Given the description of an element on the screen output the (x, y) to click on. 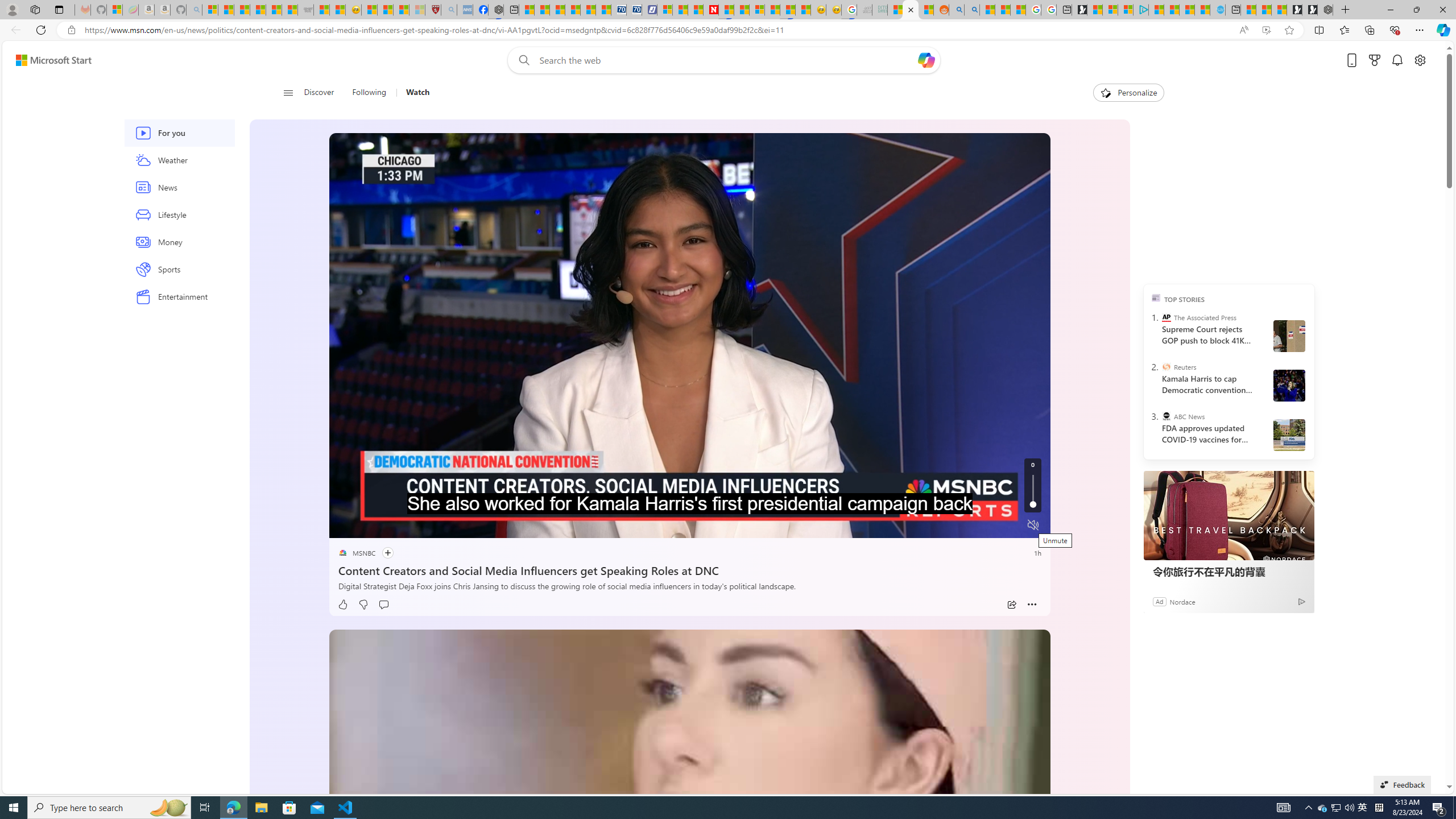
Reuters (1165, 366)
More (1031, 604)
Share (1010, 604)
